Given the description of an element on the screen output the (x, y) to click on. 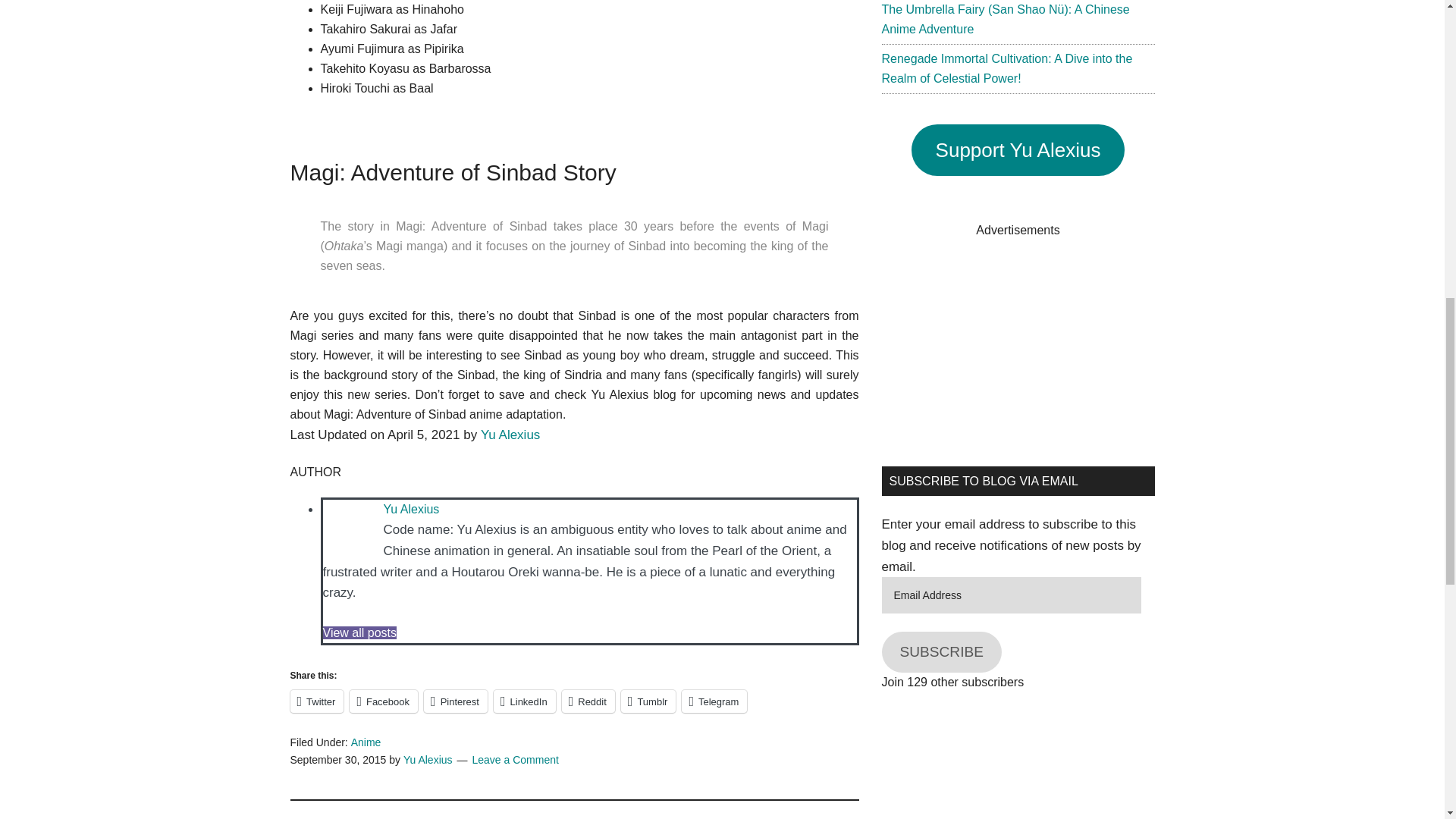
Support Yu Alexius (1017, 150)
Yu Alexius (411, 508)
Click to share on Tumblr (649, 701)
Click to share on Facebook (383, 701)
Anime (365, 742)
Twitter (316, 701)
Click to share on Telegram (713, 701)
Click to share on Pinterest (455, 701)
SUBSCRIBE (940, 651)
View all posts (360, 632)
Click to share on Twitter (316, 701)
View all posts (360, 632)
Click to share on Reddit (588, 701)
Pinterest (455, 701)
